Given the description of an element on the screen output the (x, y) to click on. 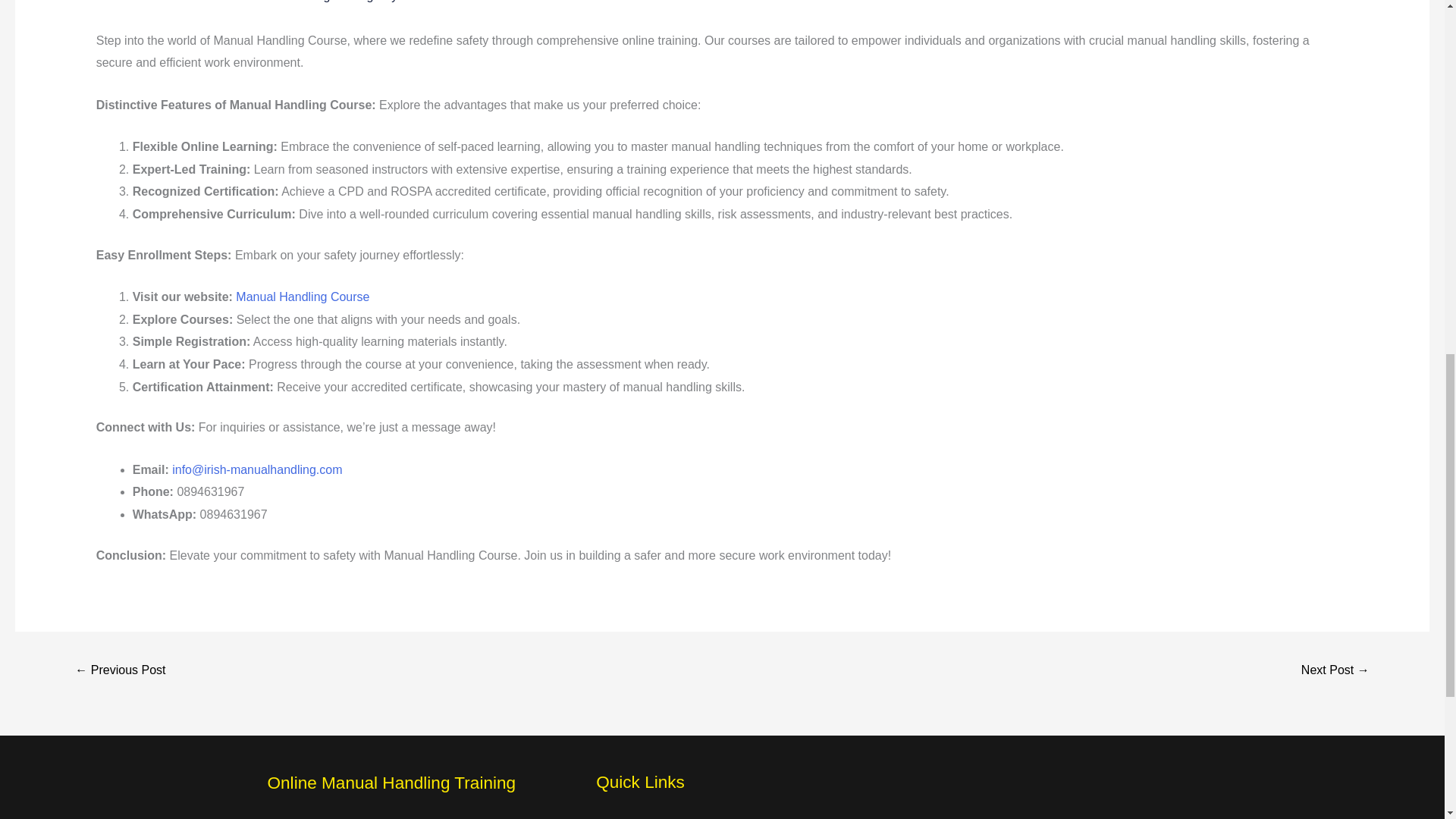
Leave a Comment (145, 1)
View all posts by admin (417, 1)
Manual Handling Course (302, 296)
admin (417, 1)
online manual handling training (289, 1)
Opt for the Premier Online Manual Handling Course in Ireland (119, 671)
